Given the description of an element on the screen output the (x, y) to click on. 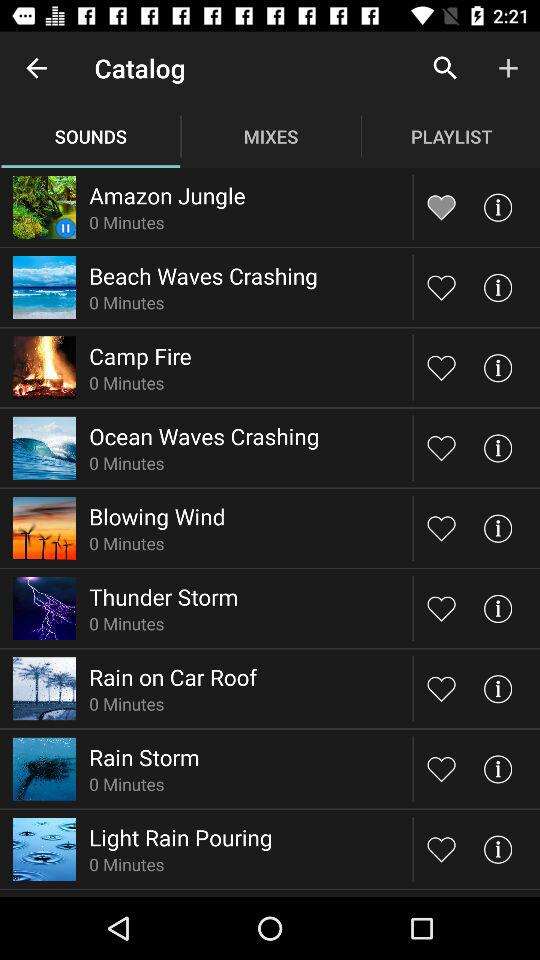
information about amazon jungle (498, 206)
